Given the description of an element on the screen output the (x, y) to click on. 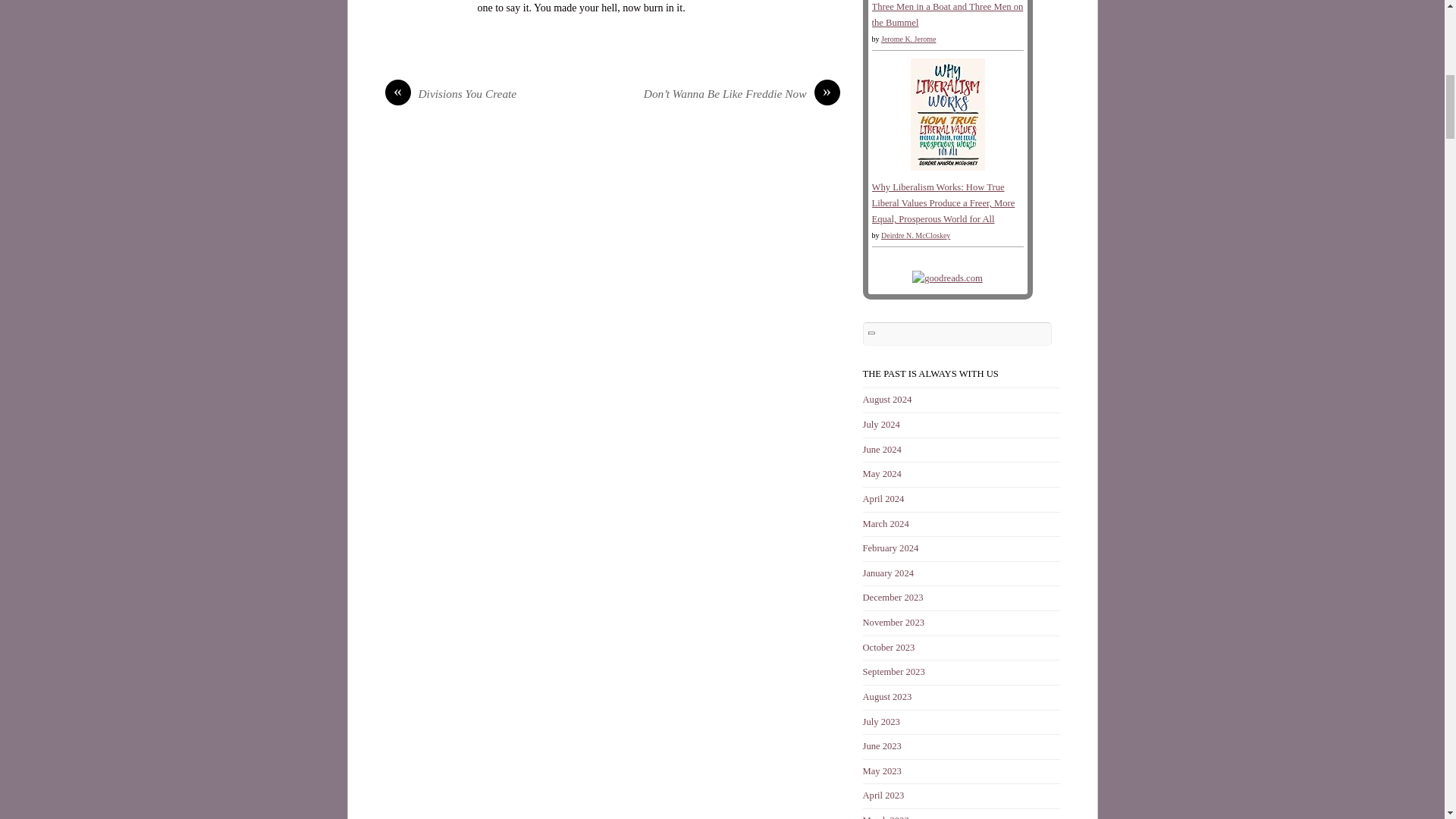
February 2024 (890, 547)
April 2024 (883, 498)
June 2024 (882, 449)
September 2023 (893, 671)
May 2024 (882, 473)
August 2023 (887, 696)
March 2024 (885, 523)
July 2023 (881, 720)
Three Men in a Boat and Three Men on the Bummel (947, 14)
